Given the description of an element on the screen output the (x, y) to click on. 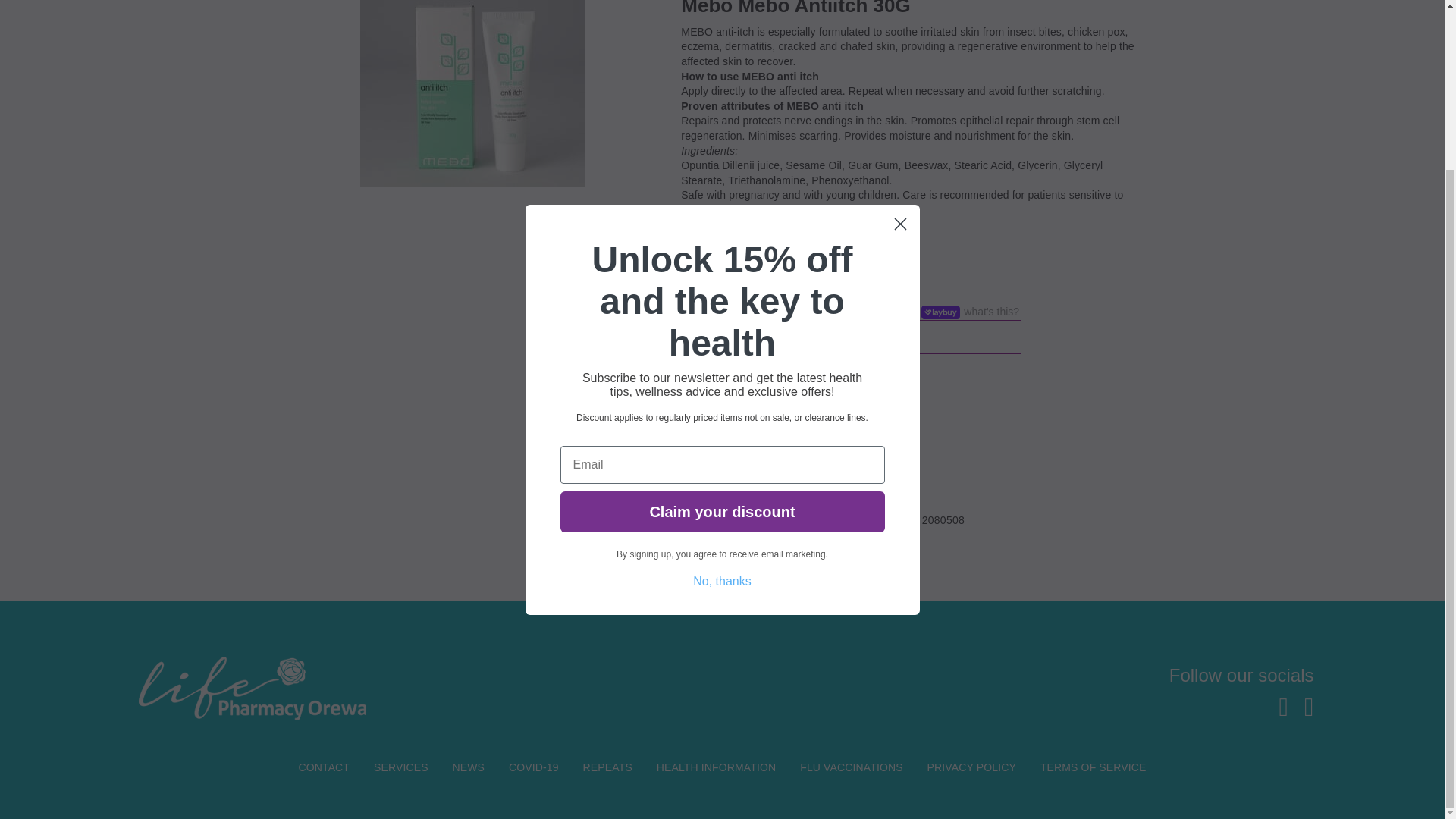
Share (753, 490)
Close dialog 1 (900, 20)
Yes (693, 336)
Share (730, 490)
Share (776, 490)
1 (700, 416)
